Given the description of an element on the screen output the (x, y) to click on. 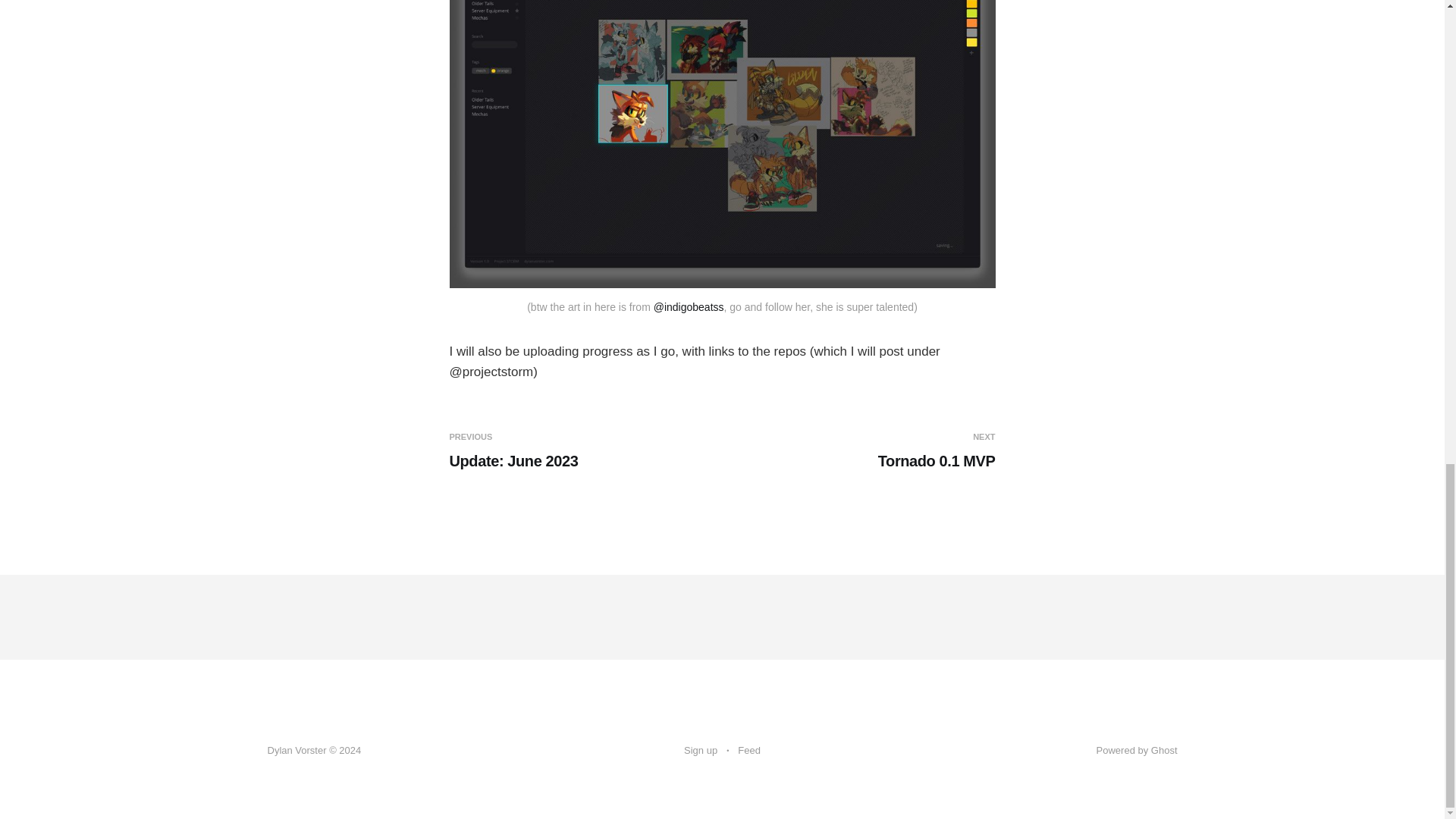
Sign up (582, 450)
Feed (700, 750)
Powered by Ghost (749, 750)
